Given the description of an element on the screen output the (x, y) to click on. 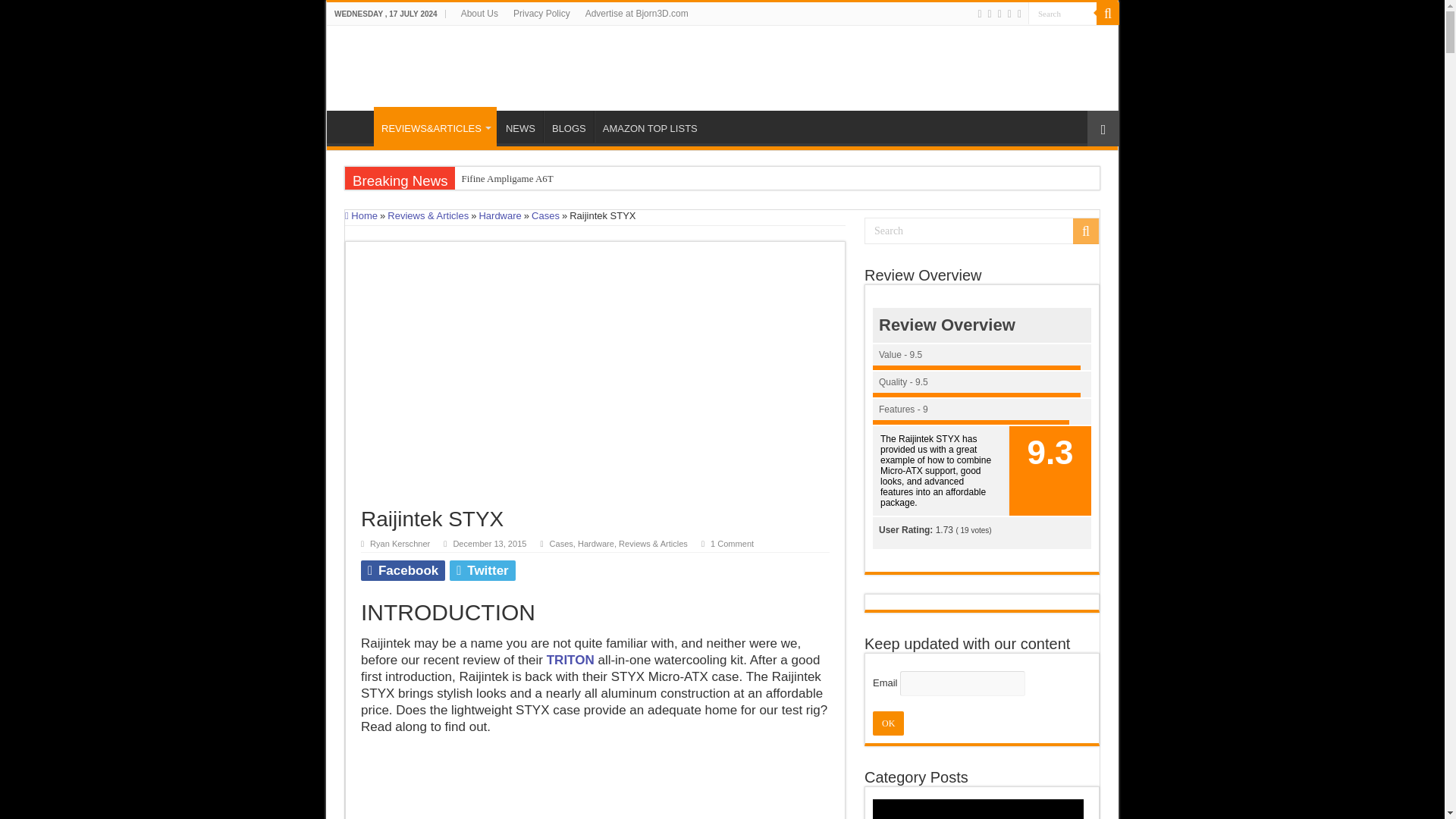
OK (888, 723)
Search (1107, 13)
HOME (354, 126)
Search (1061, 13)
Search (981, 230)
About Us (478, 13)
Random Article (1103, 128)
Bjorn3D.com (437, 64)
Search (1061, 13)
Fifine Ampligame A6T (588, 178)
Advertise at Bjorn3D.com (636, 13)
Privacy Policy (541, 13)
Search (1061, 13)
